Given the description of an element on the screen output the (x, y) to click on. 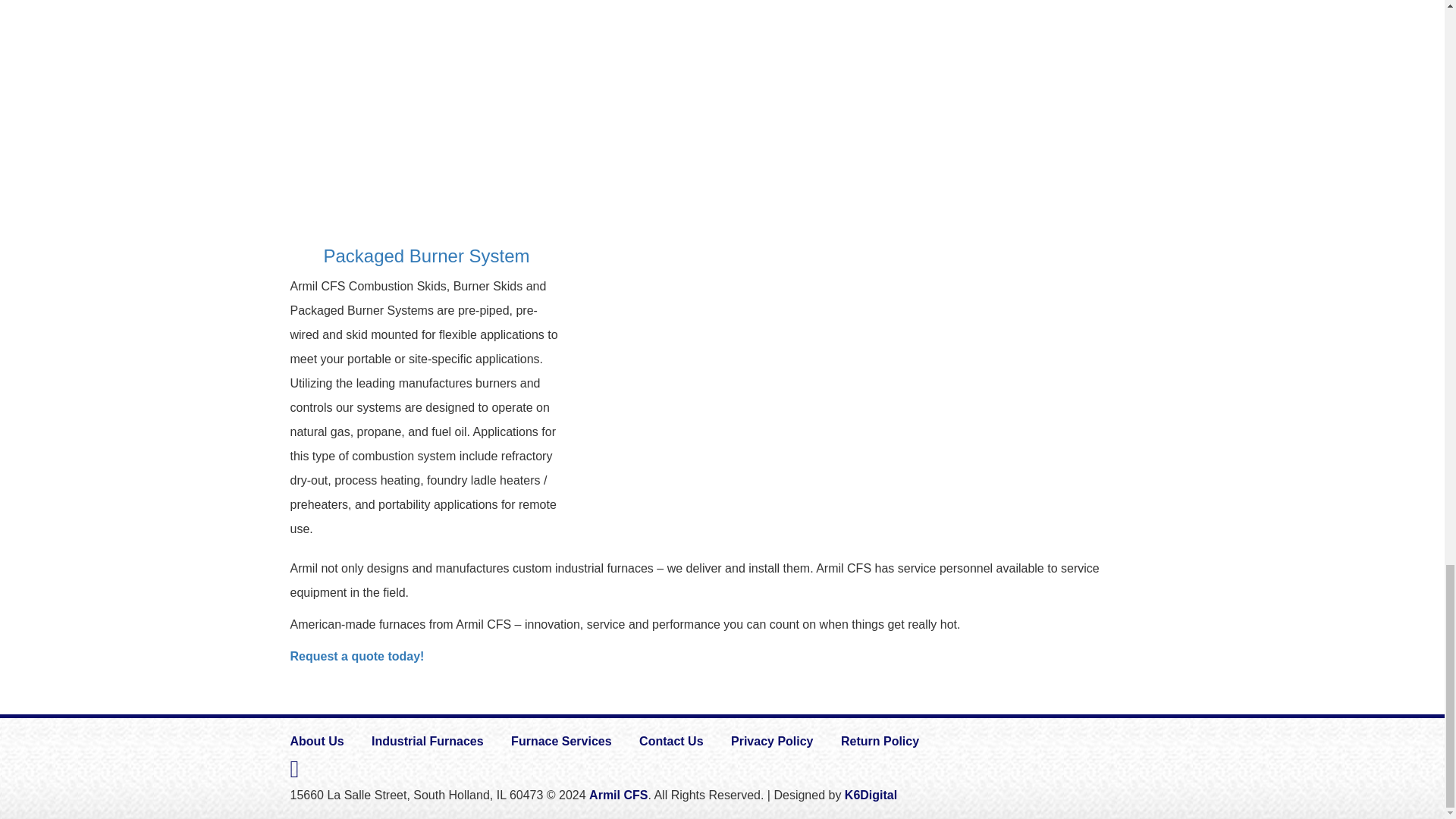
Packaged Burner System (425, 115)
facebook (293, 768)
